Given the description of an element on the screen output the (x, y) to click on. 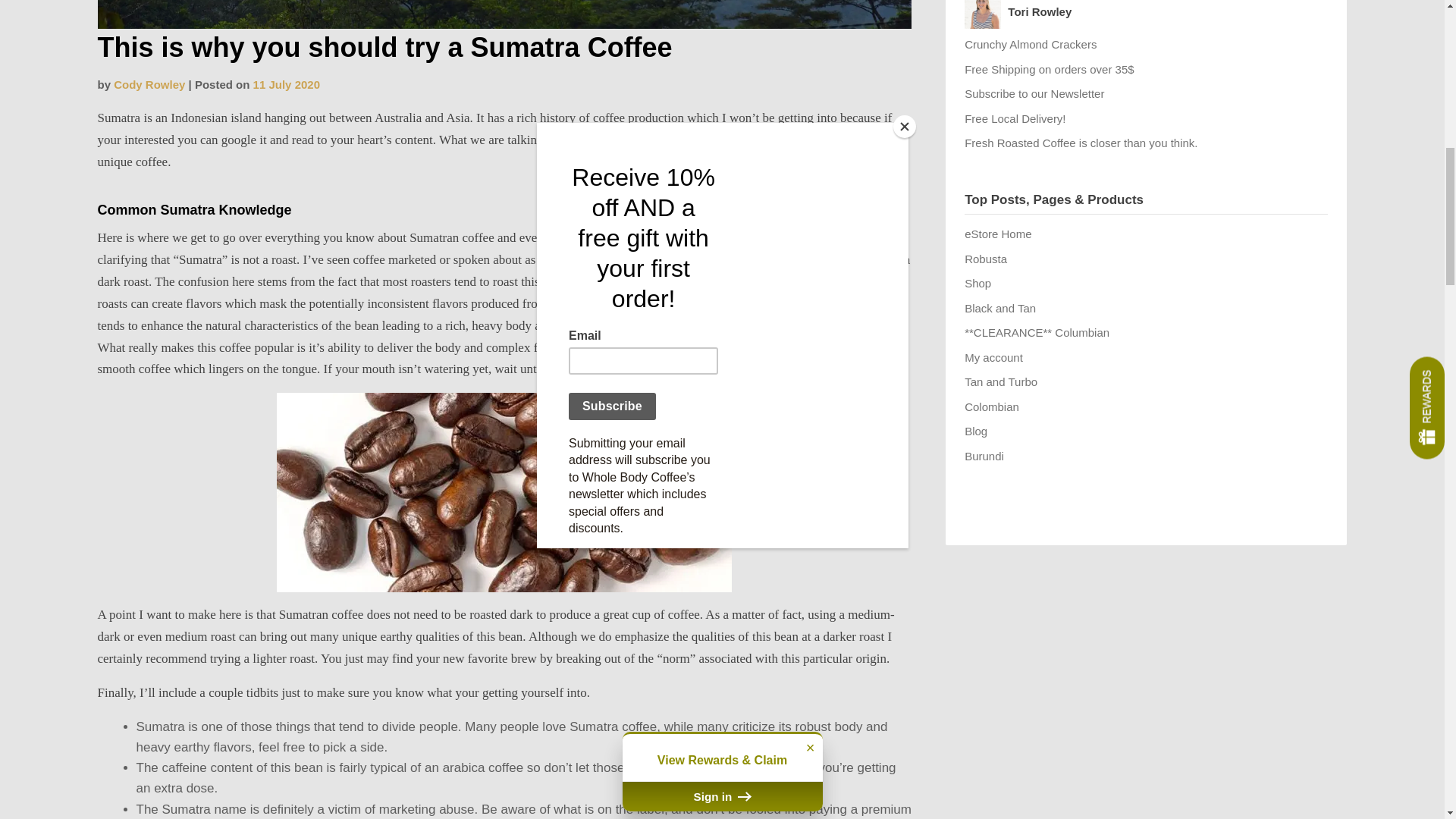
11 July 2020 (286, 83)
Subscribe to our Newsletter (1033, 92)
Crunchy Almond Crackers (1029, 43)
Cody Rowley (148, 83)
